Given the description of an element on the screen output the (x, y) to click on. 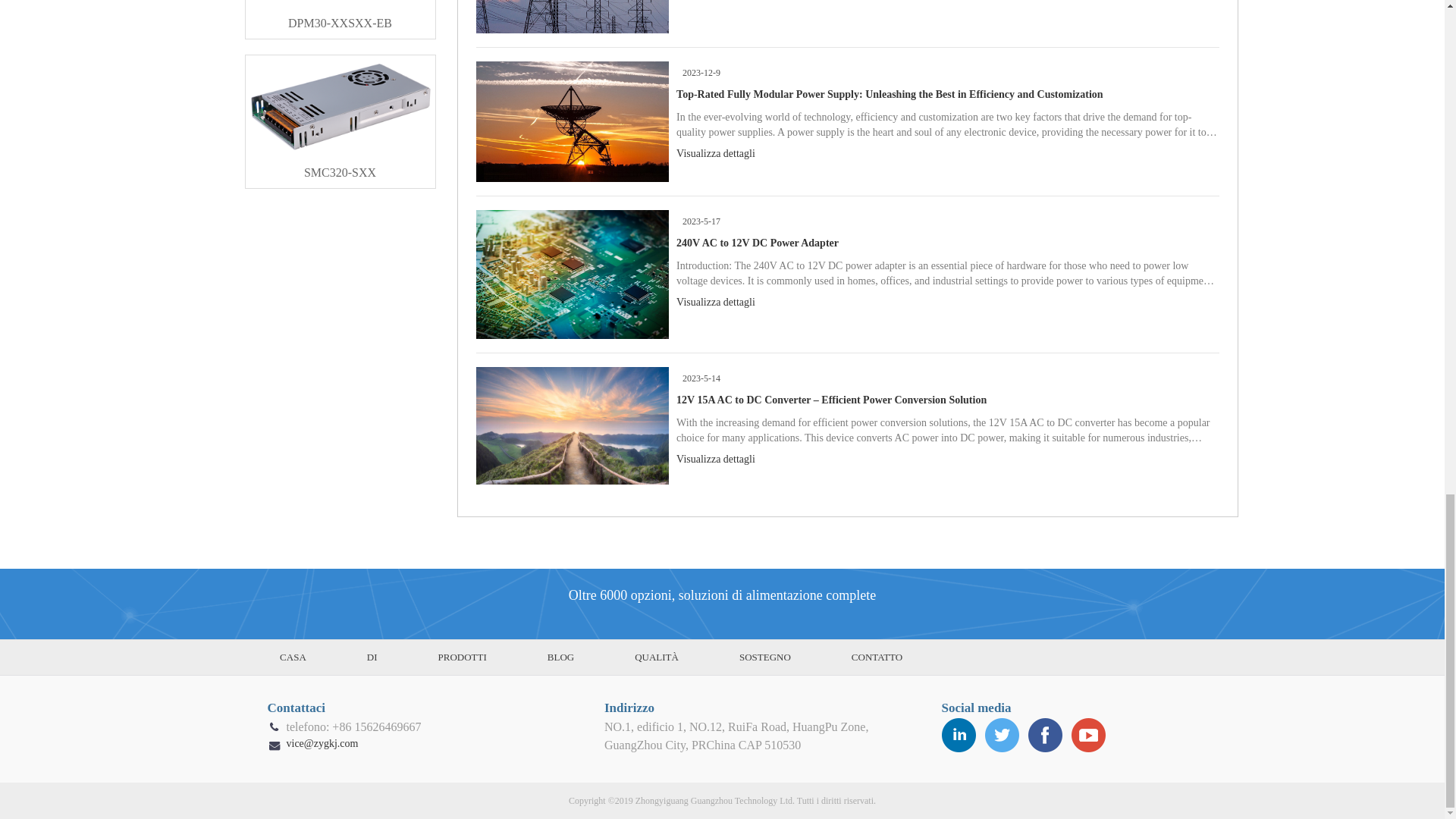
DPM30-XXSXX-EB (340, 19)
DPM30-XXSXX-EB (340, 19)
SMC320-SXX (340, 167)
